Given the description of an element on the screen output the (x, y) to click on. 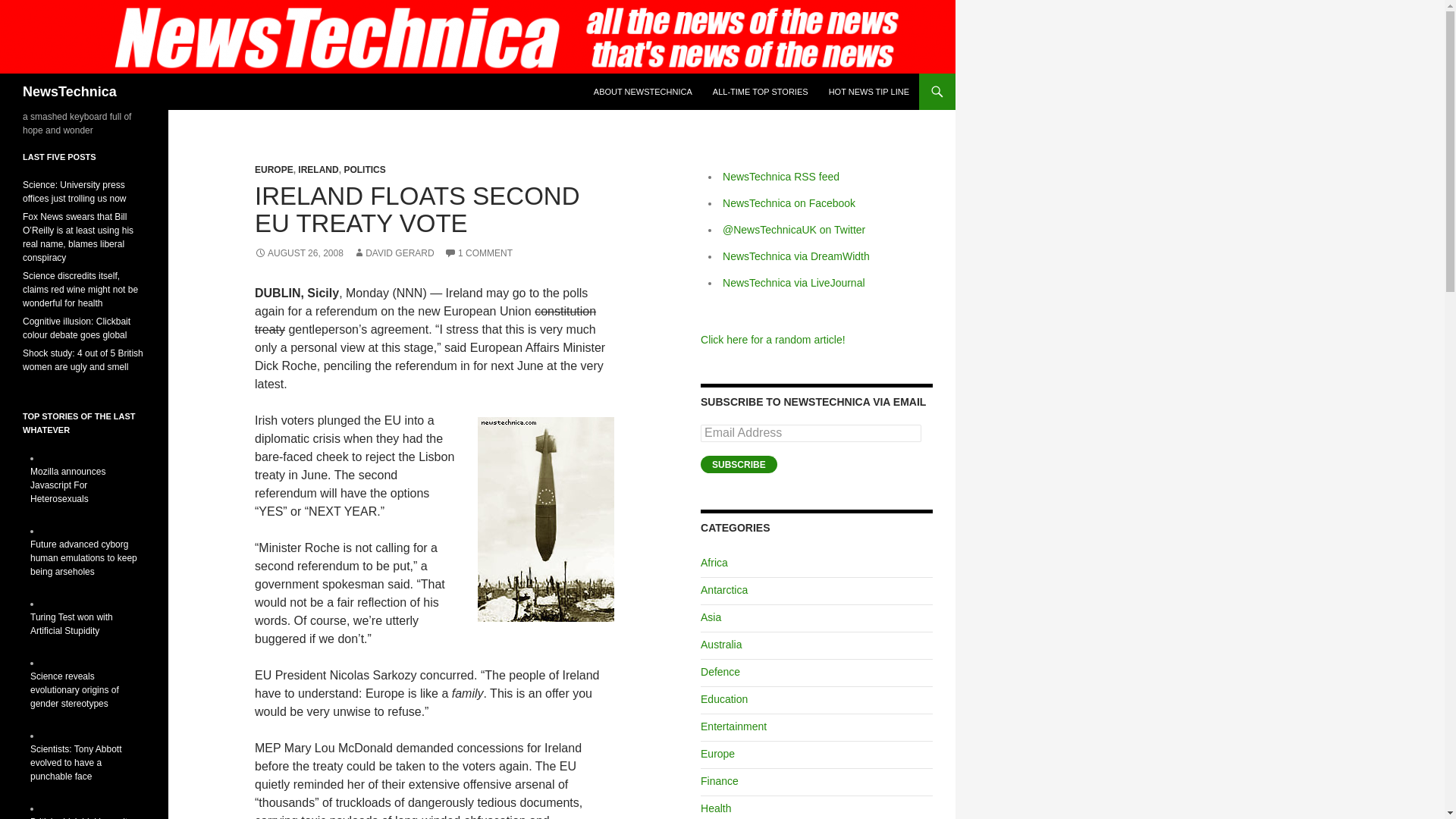
Africa (714, 562)
POLITICS (364, 169)
EUROPE (274, 169)
IRELAND (317, 169)
Asia (710, 616)
SUBSCRIBE (738, 464)
NewsTechnica via DreamWidth (795, 256)
Education (724, 698)
HOT NEWS TIP LINE (868, 91)
ALL-TIME TOP STORIES (759, 91)
DAVID GERARD (393, 253)
Australia (720, 644)
Defence (719, 671)
NewsTechnica (69, 91)
